Given the description of an element on the screen output the (x, y) to click on. 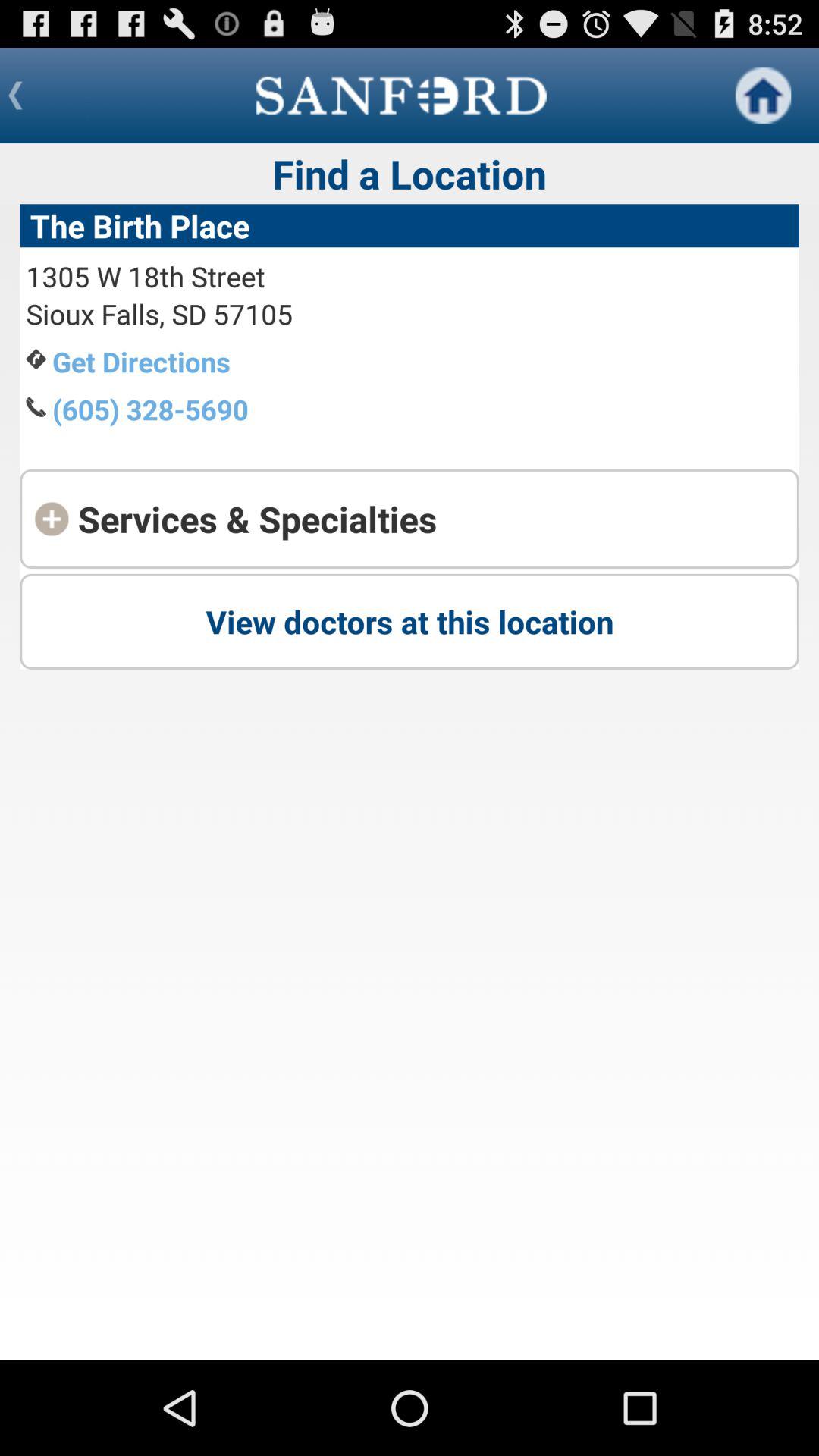
choose (605) 328-5690 item (150, 409)
